Given the description of an element on the screen output the (x, y) to click on. 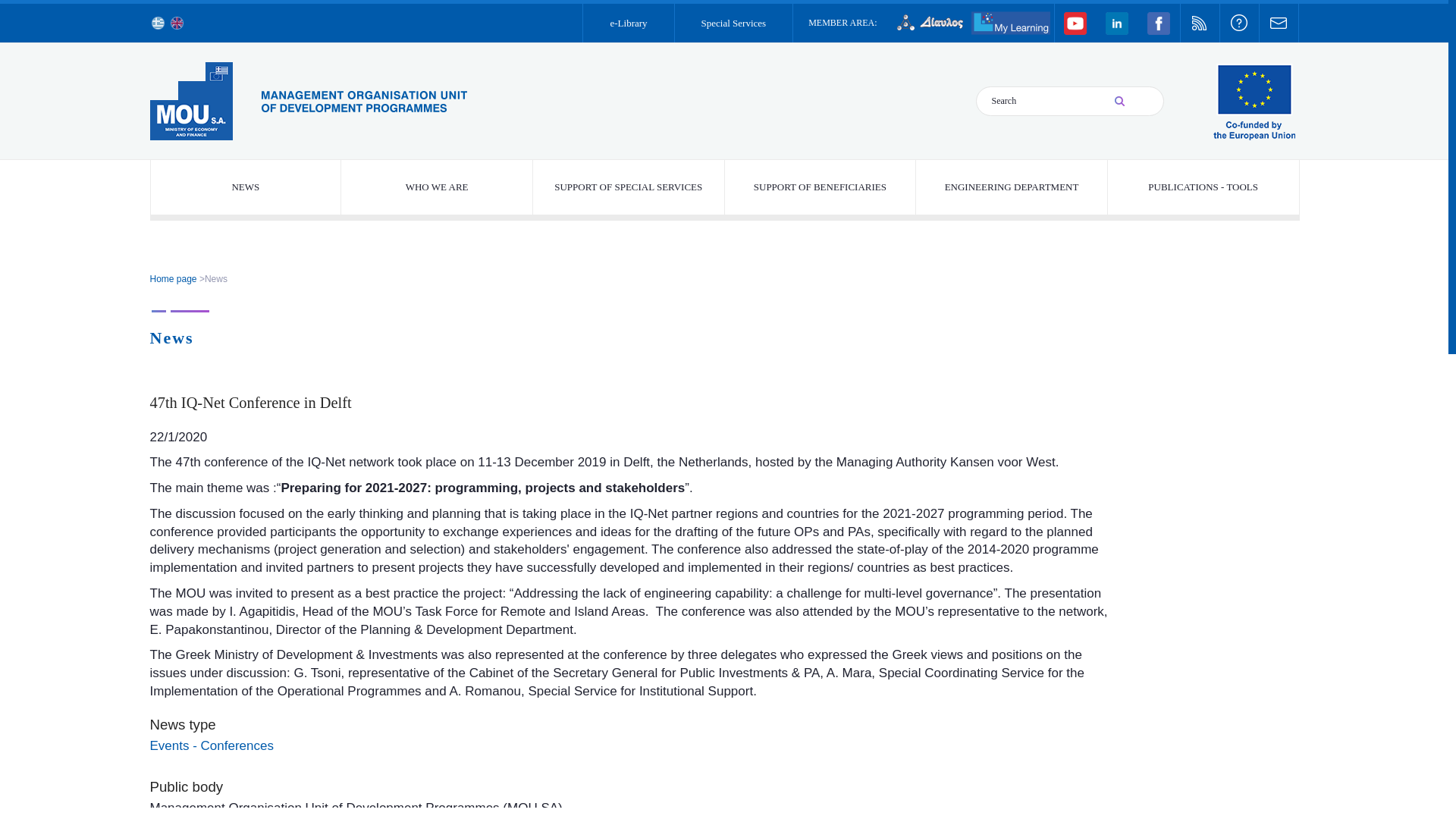
Facebook (1157, 23)
Search (1040, 101)
European Union - European Regional Development Fund (1253, 101)
SUPPORT OF BENEFICIARIES (820, 186)
e-Learning (1010, 23)
Home page (308, 101)
RSS feed (1198, 23)
Special Services (734, 23)
Search (1138, 100)
FAQs (1238, 23)
